Given the description of an element on the screen output the (x, y) to click on. 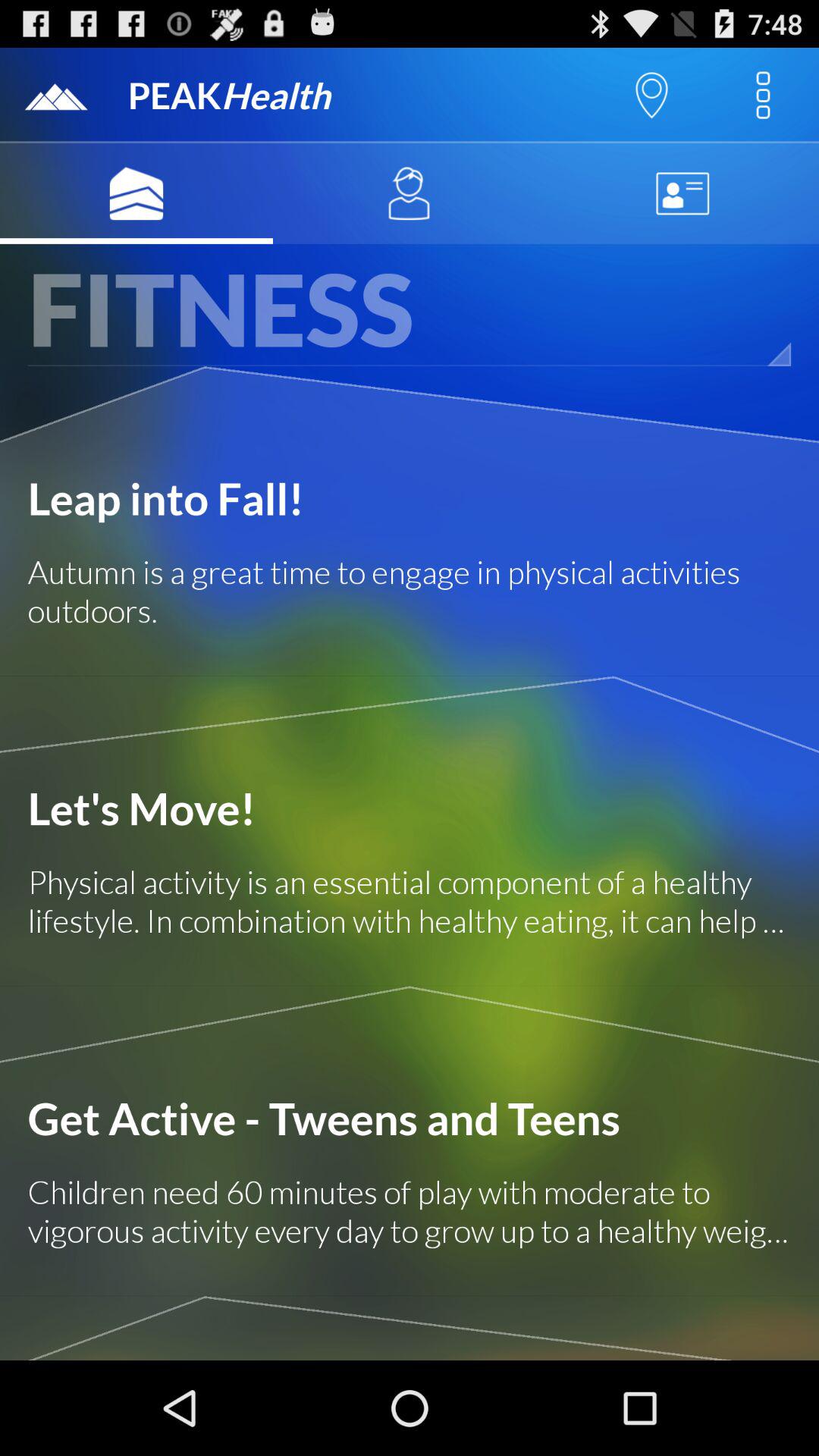
show personal information (682, 193)
